Given the description of an element on the screen output the (x, y) to click on. 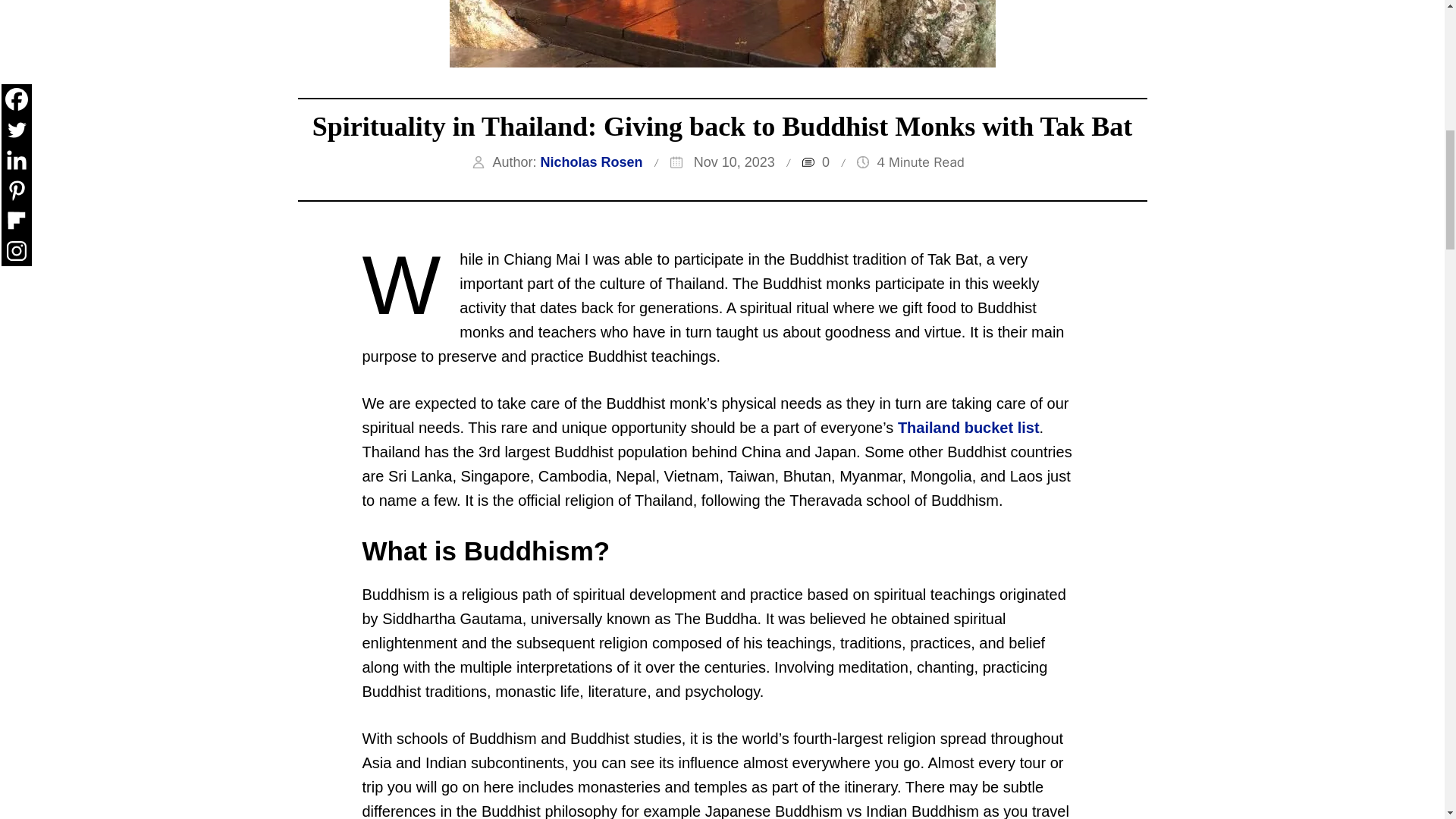
Scroll back to top (1406, 720)
